Given the description of an element on the screen output the (x, y) to click on. 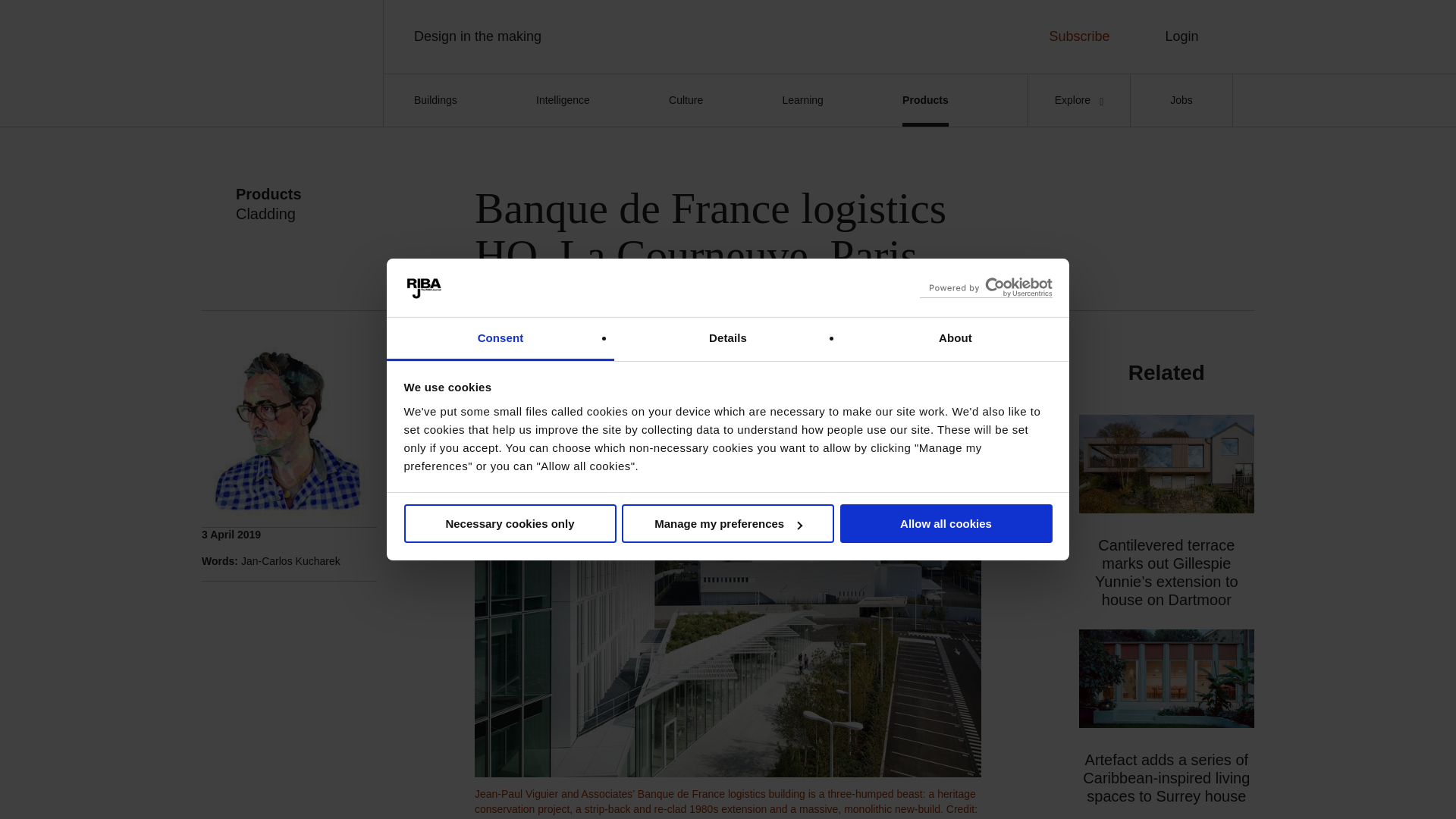
About (954, 339)
Consent (500, 339)
Details (727, 339)
